Given the description of an element on the screen output the (x, y) to click on. 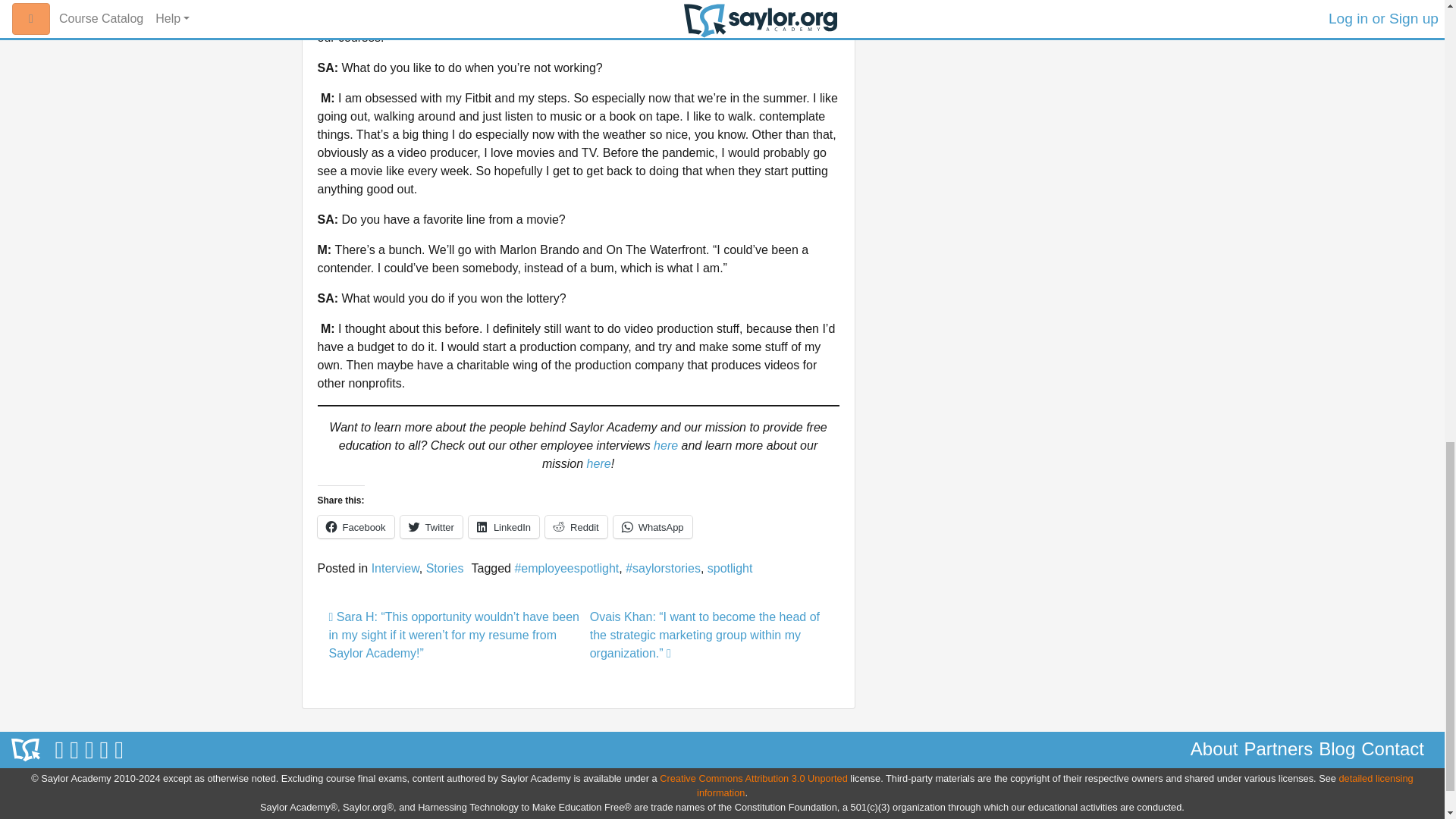
Click to share on WhatsApp (652, 526)
Click to share on Reddit (575, 526)
Blog (1337, 749)
here (598, 463)
Stories (445, 567)
Reddit (575, 526)
LinkedIn (503, 526)
Twitter (431, 526)
spotlight (729, 567)
About (1215, 749)
